Given the description of an element on the screen output the (x, y) to click on. 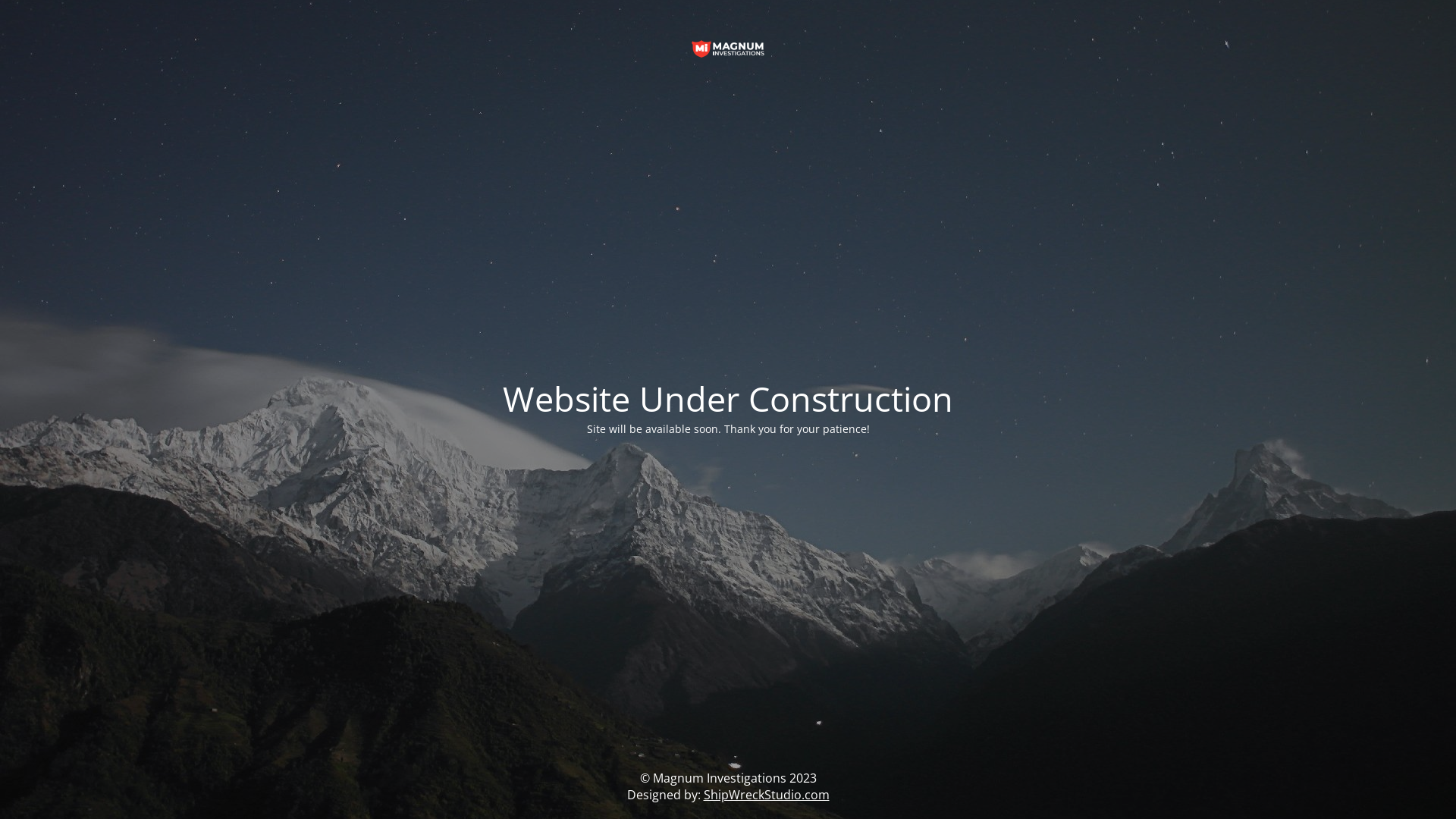
ShipWreckStudio.com Element type: text (766, 794)
